Given the description of an element on the screen output the (x, y) to click on. 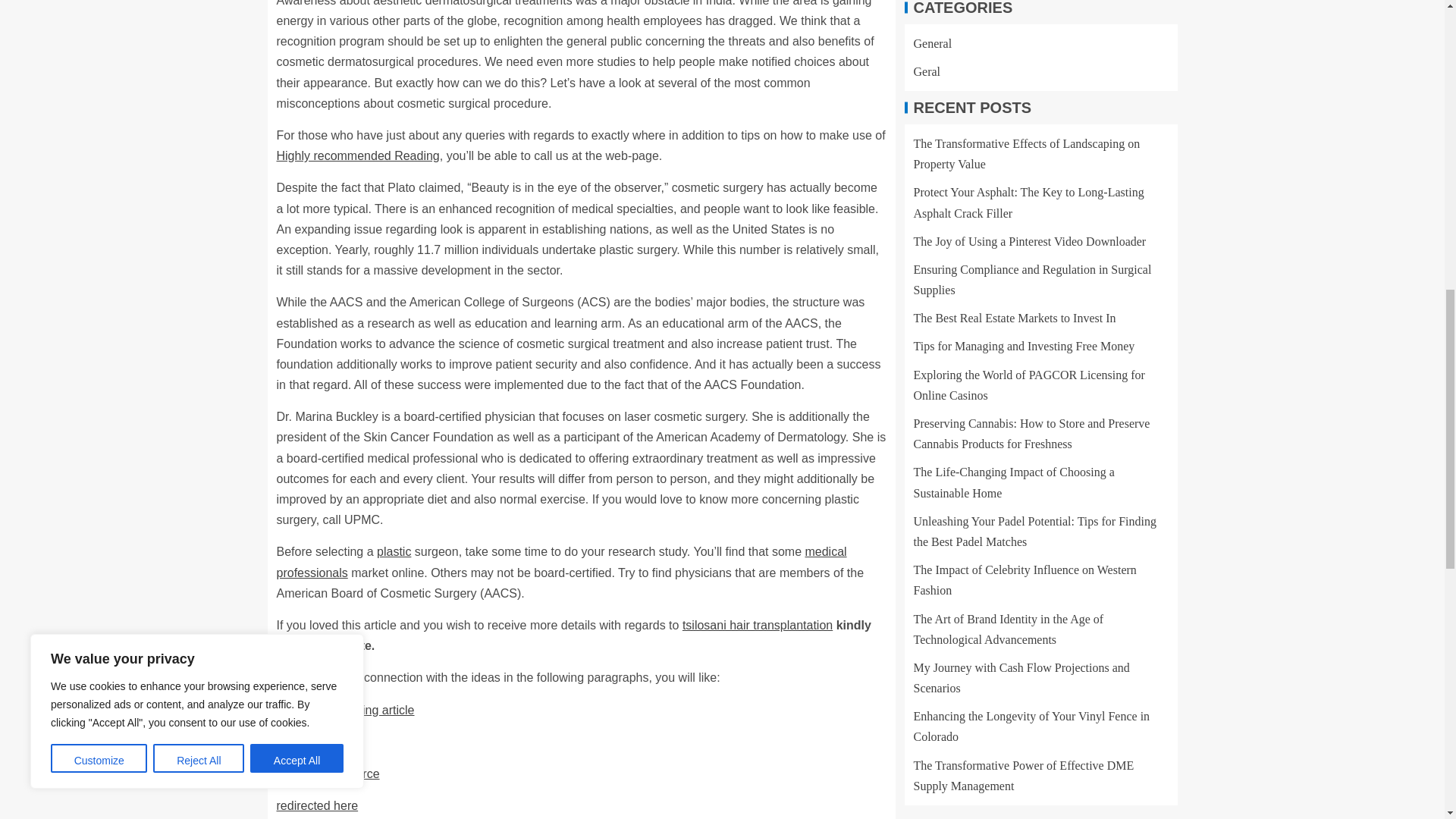
medical professionals (560, 561)
just click for source (327, 773)
Highly recommended Reading (357, 155)
my webpage (310, 741)
redirected here (317, 805)
plastic (393, 551)
Visit the up coming article (344, 709)
tsilosani hair transplantation (757, 625)
